Given the description of an element on the screen output the (x, y) to click on. 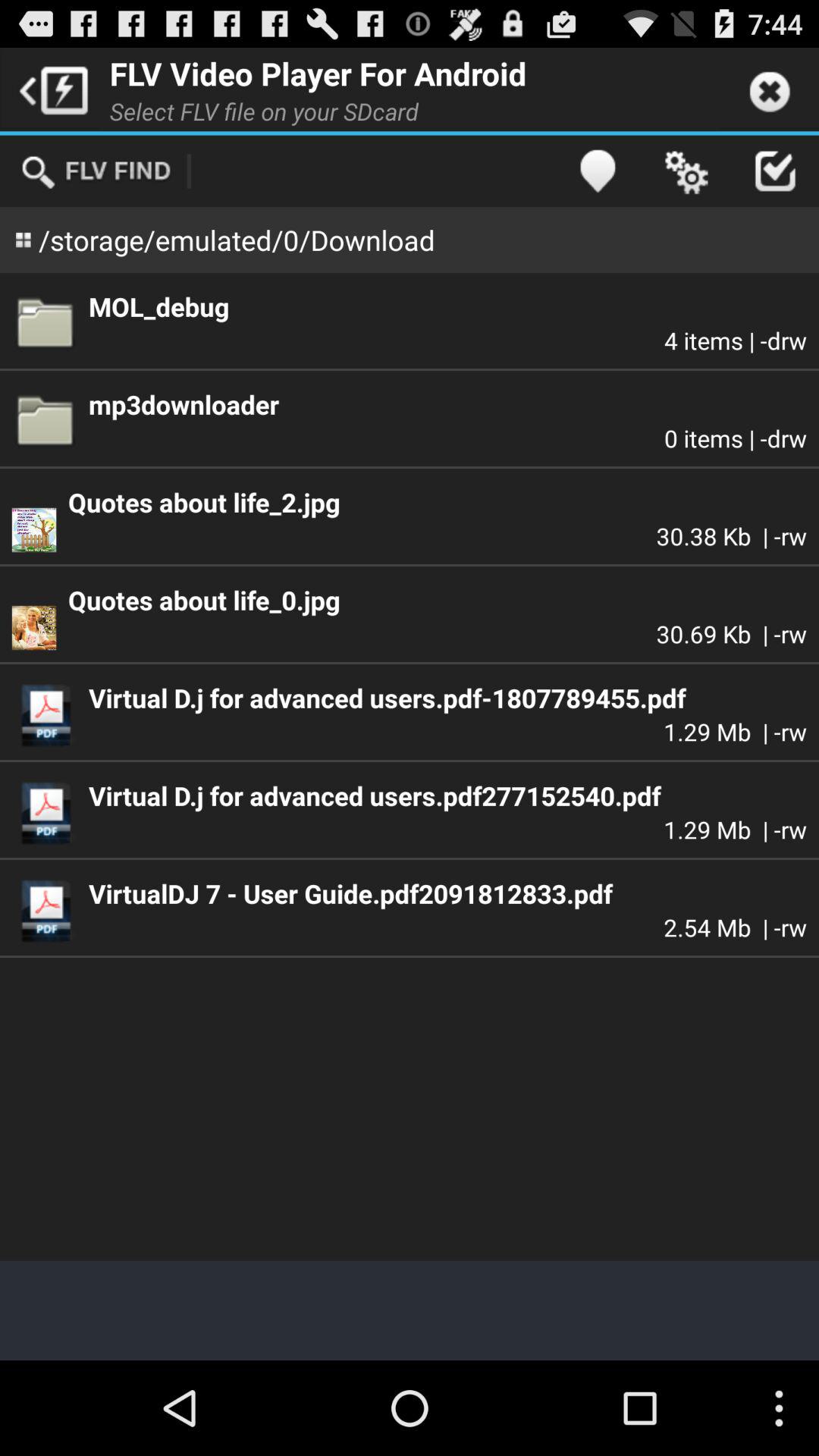
turn off the app below storage emulated 0 app (447, 306)
